Given the description of an element on the screen output the (x, y) to click on. 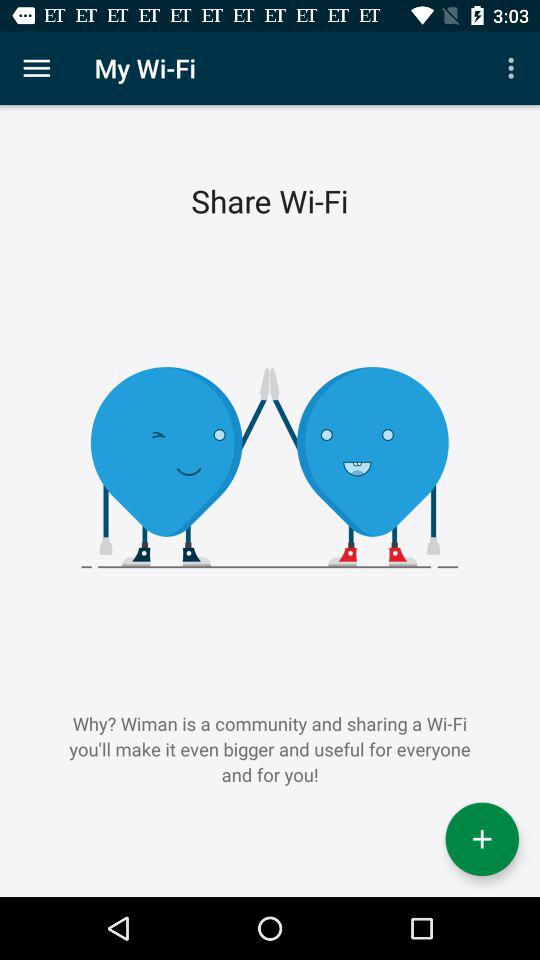
add network to list (482, 839)
